Given the description of an element on the screen output the (x, y) to click on. 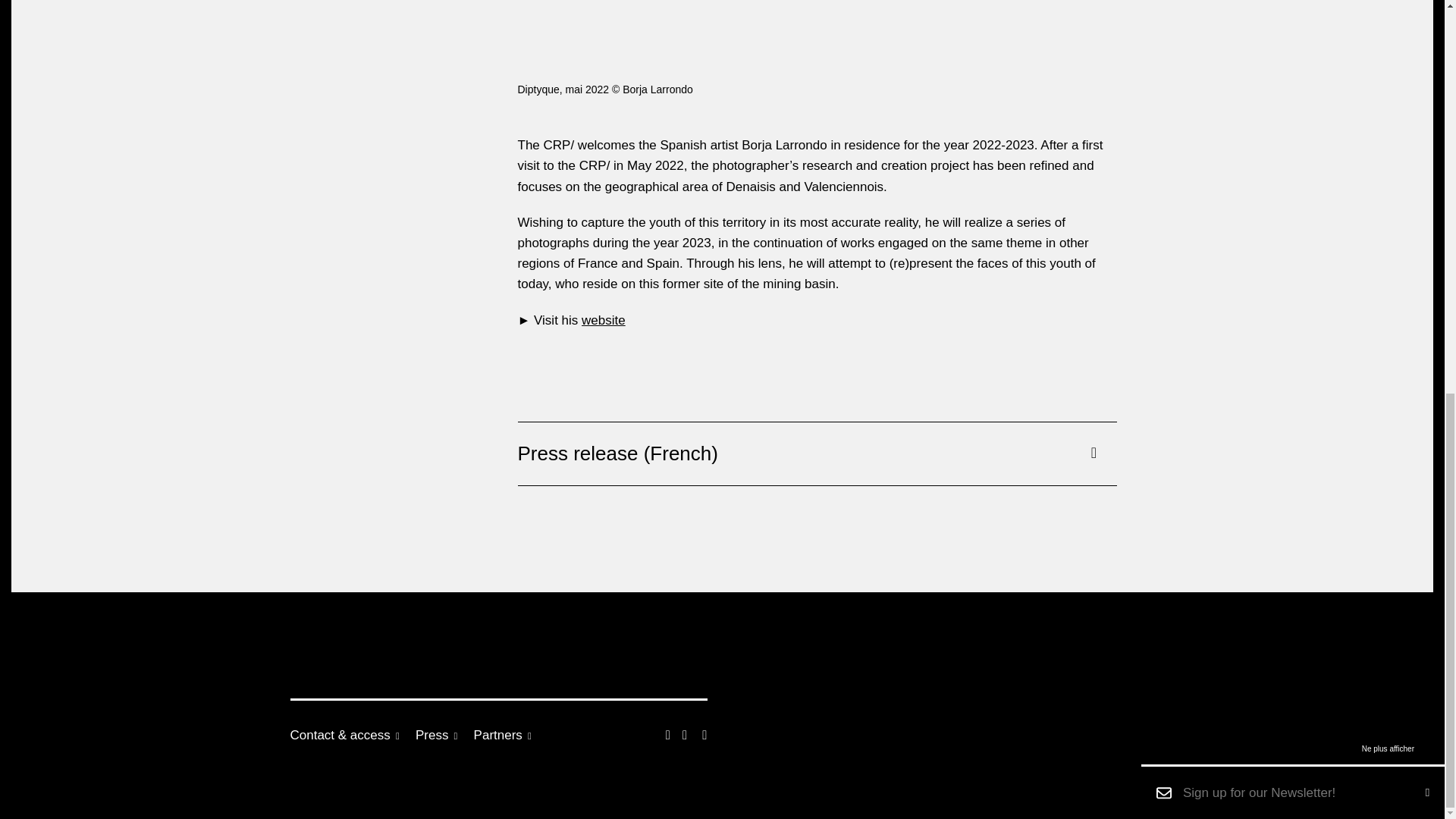
Partners (509, 735)
website (603, 319)
Press (442, 735)
Ne plus afficher (1387, 0)
